Given the description of an element on the screen output the (x, y) to click on. 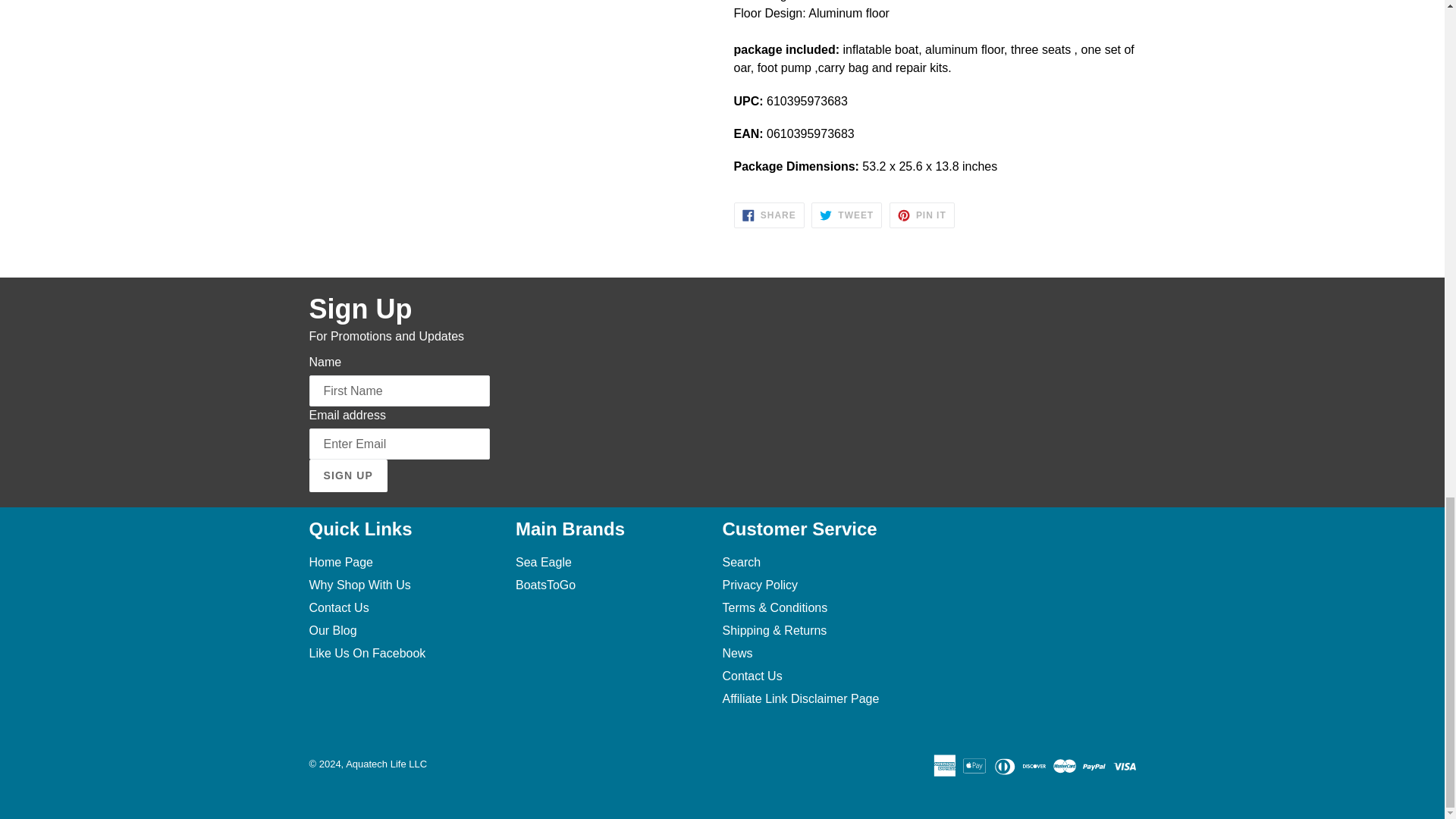
Sign Up (347, 475)
Share on Facebook (769, 215)
Tweet on Twitter (846, 215)
Pin on Pinterest (922, 215)
